Given the description of an element on the screen output the (x, y) to click on. 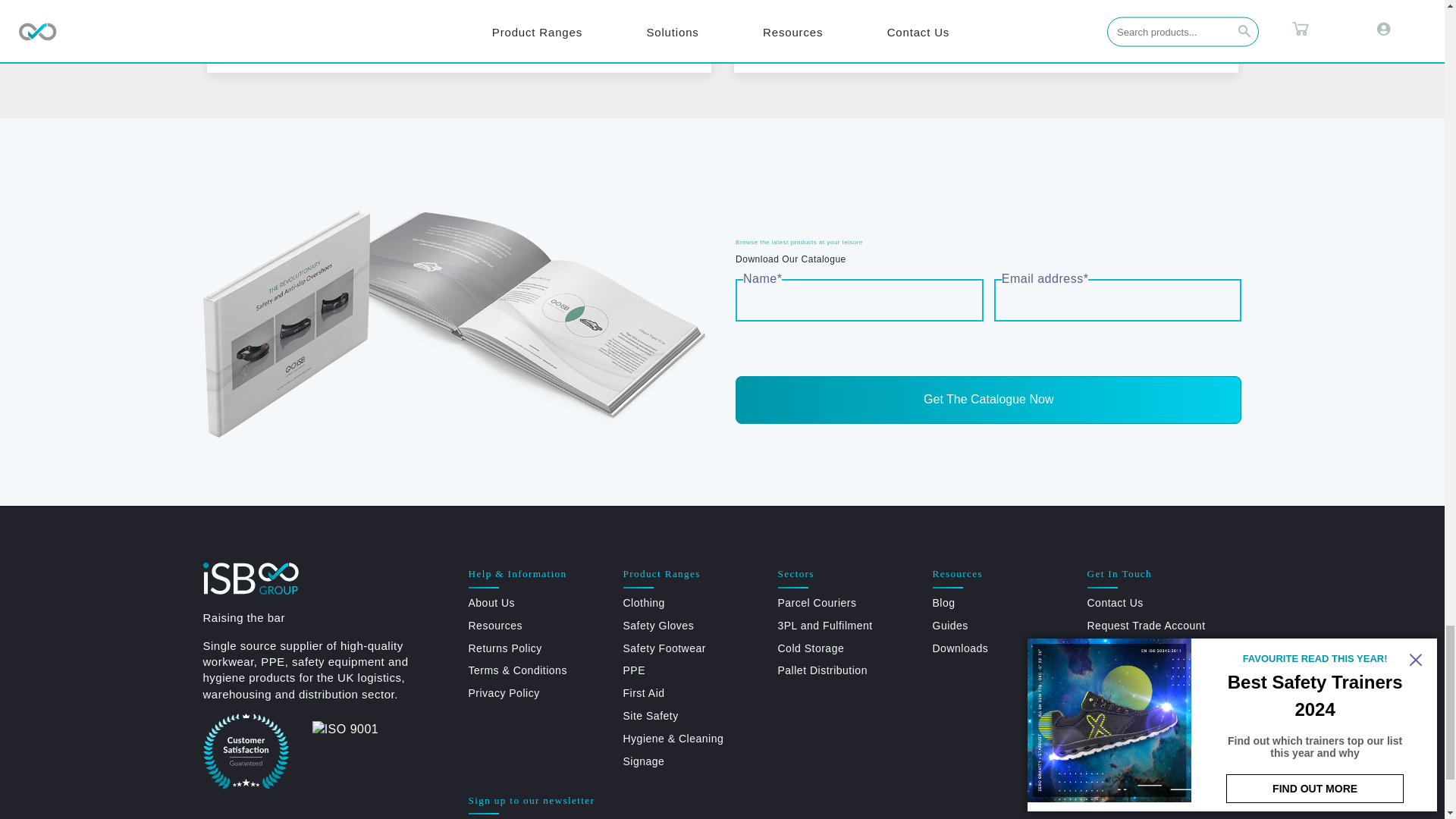
Get the catalogue now (988, 399)
